Given the description of an element on the screen output the (x, y) to click on. 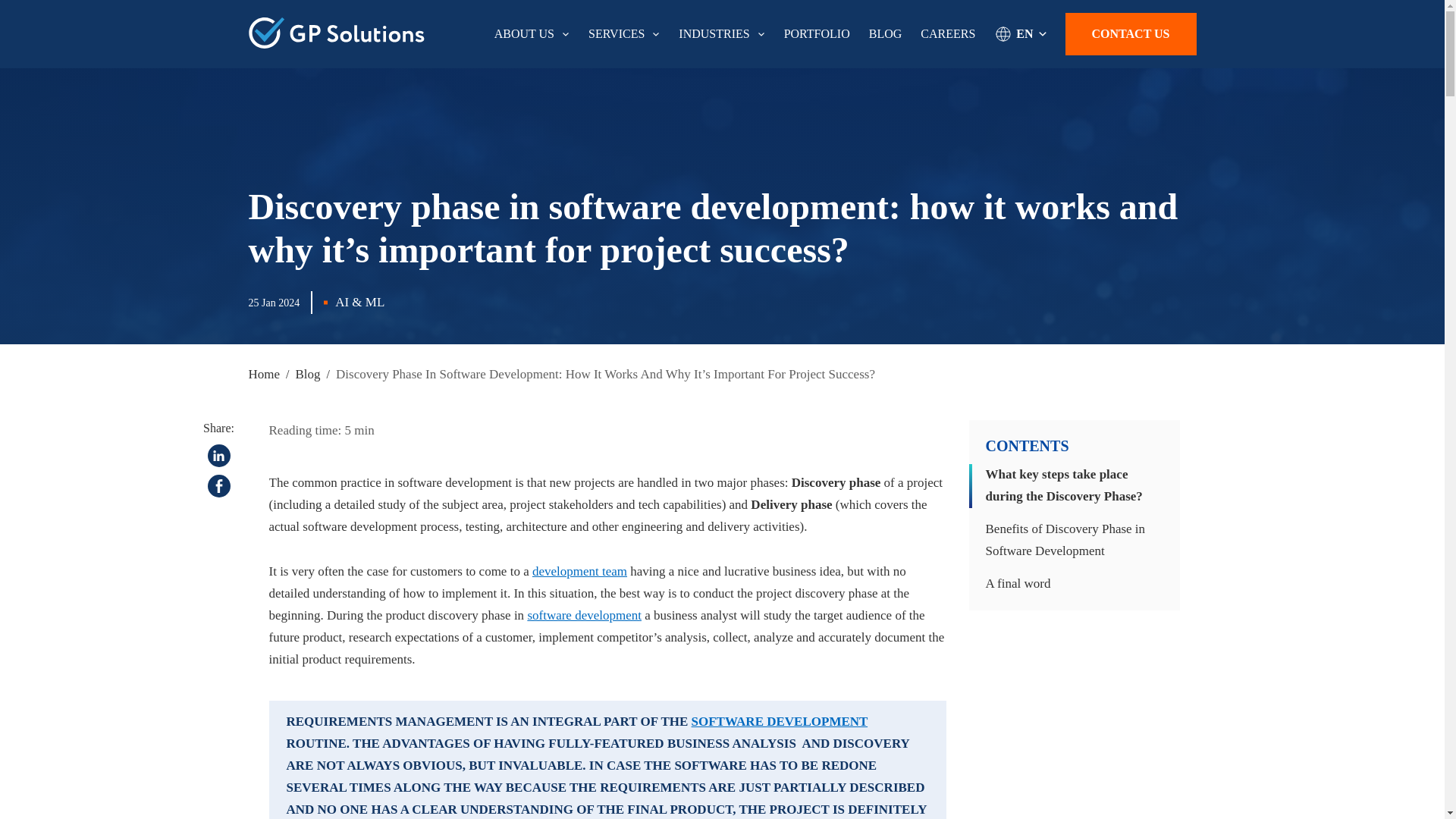
SERVICES (623, 34)
ABOUT US (532, 34)
INDUSTRIES (721, 34)
